Given the description of an element on the screen output the (x, y) to click on. 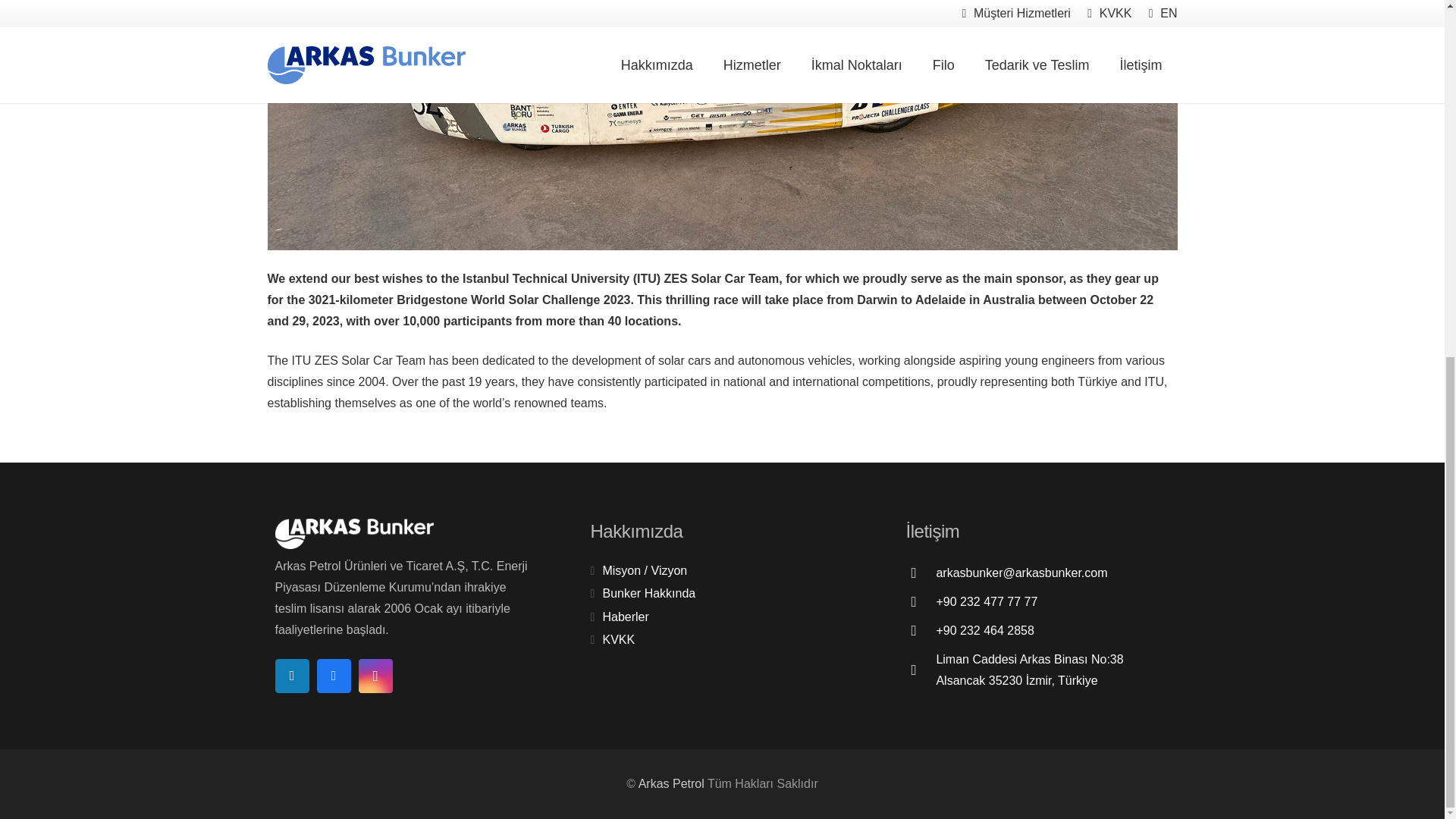
Haberler (624, 616)
Arkas Petrol (671, 783)
Instagram (374, 675)
Facebook (333, 675)
LinkedIn (291, 675)
KVKK (618, 639)
